Given the description of an element on the screen output the (x, y) to click on. 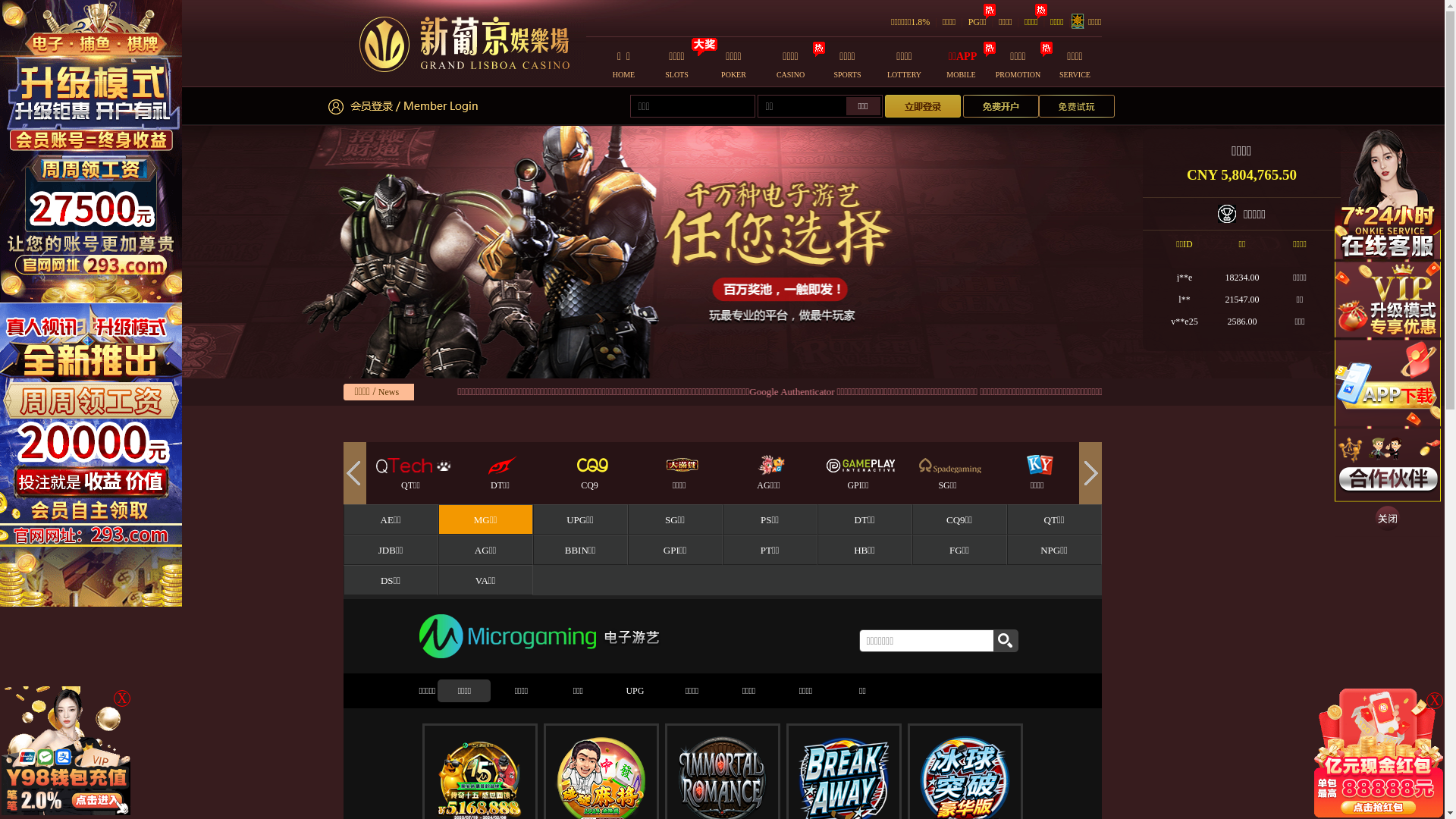
X Element type: text (121, 698)
X Element type: text (1434, 700)
UPG Element type: text (634, 690)
CQ9 Element type: text (678, 479)
